Given the description of an element on the screen output the (x, y) to click on. 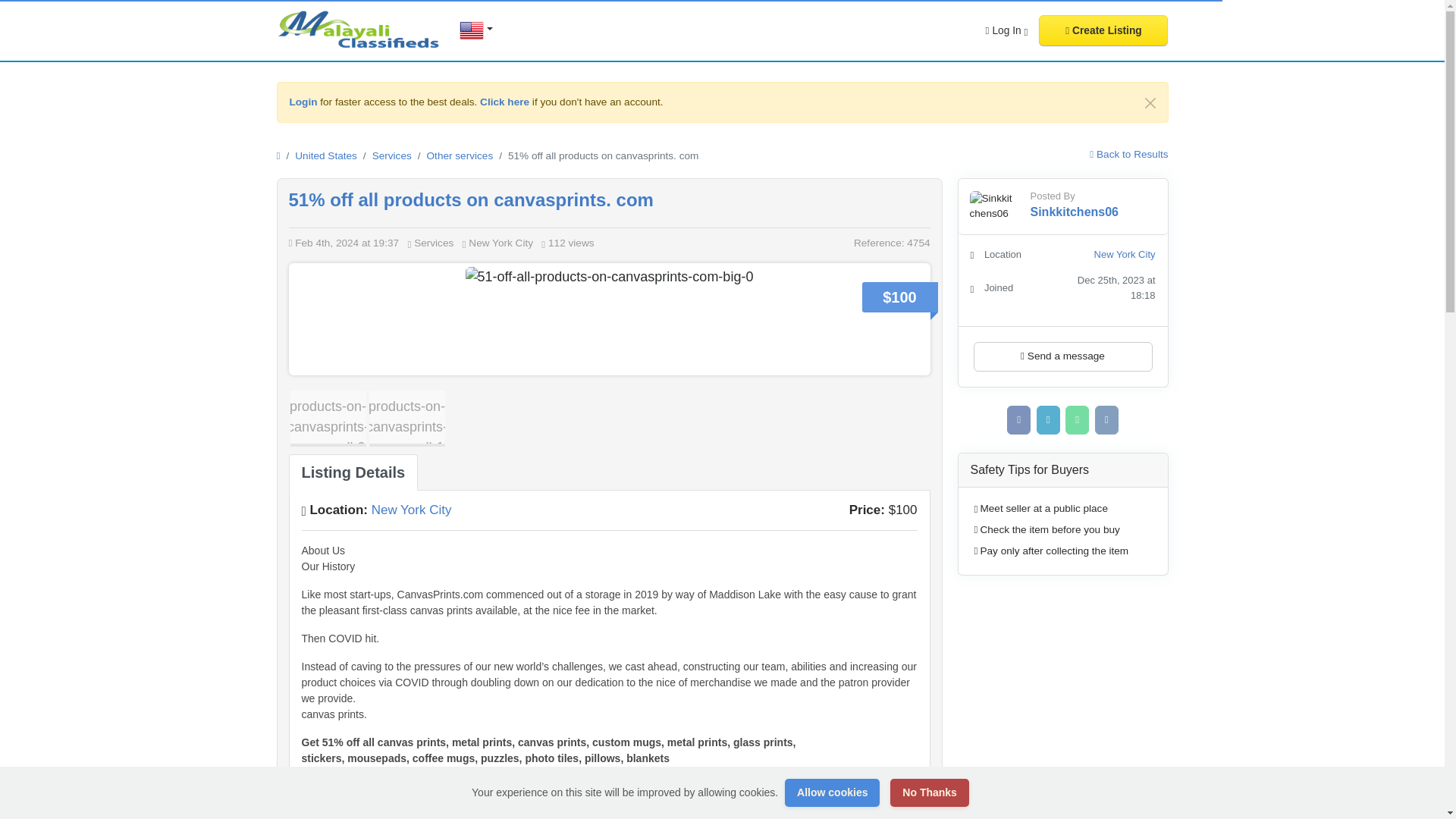
Login (303, 101)
Log In (1006, 30)
New York City (411, 509)
Sinkkitchens06 (1073, 211)
Back to Results (1128, 153)
Click here (504, 101)
Other services (459, 155)
malayaliclassifieds United States (359, 28)
New York City (1125, 254)
Send a message (1063, 356)
